Given the description of an element on the screen output the (x, y) to click on. 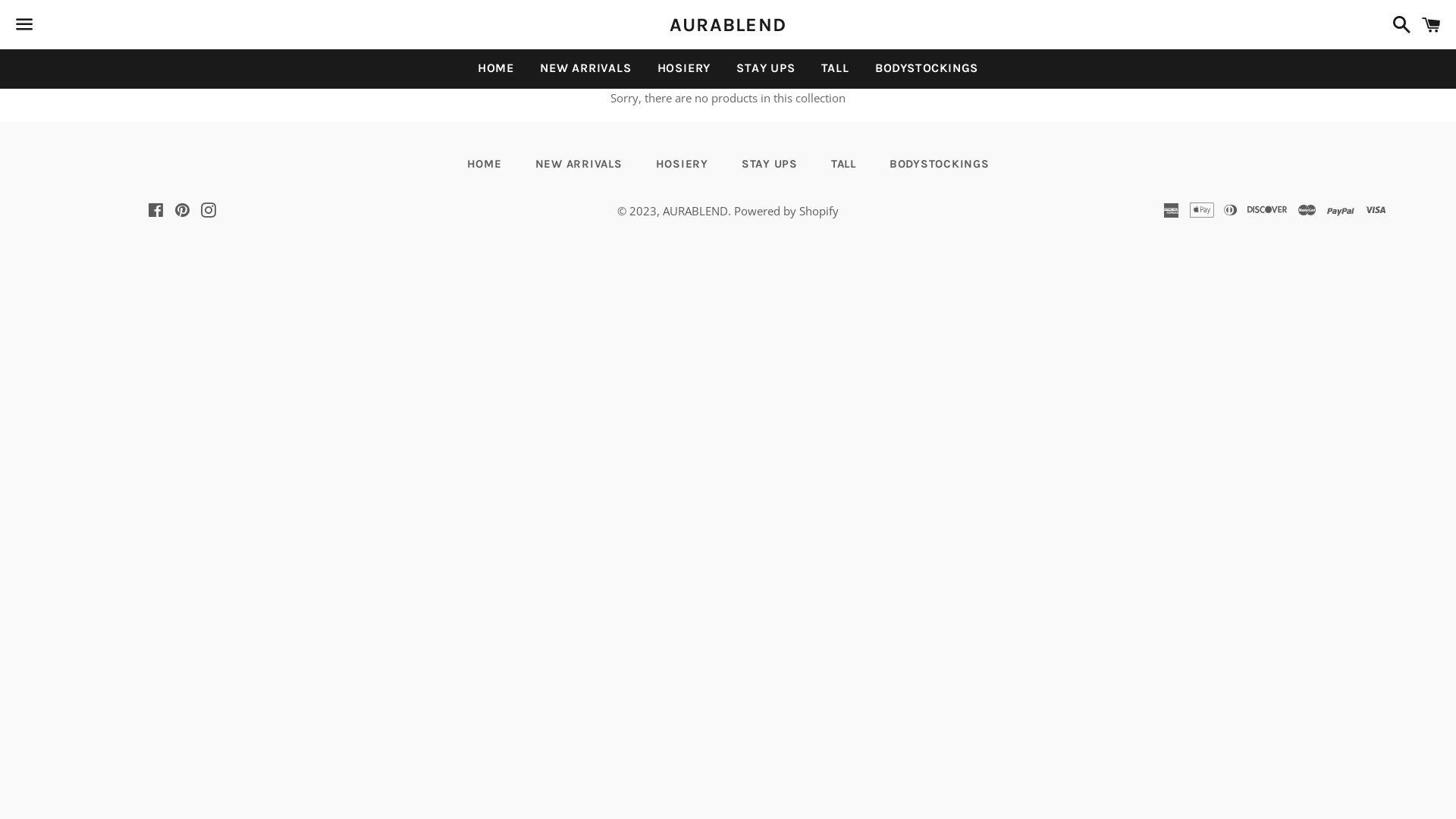
Instagram Element type: text (208, 211)
STAY UPS Element type: text (765, 68)
Menu Element type: text (24, 24)
NEW ARRIVALS Element type: text (585, 68)
HOSIERY Element type: text (684, 68)
NEW ARRIVALS Element type: text (578, 163)
BODYSTOCKINGS Element type: text (939, 163)
Pinterest Element type: text (182, 211)
TALL Element type: text (843, 163)
BODYSTOCKINGS Element type: text (926, 68)
AURABLEND Element type: text (727, 24)
AURABLEND Element type: text (695, 210)
TALL Element type: text (834, 68)
Facebook Element type: text (155, 211)
HOME Element type: text (484, 163)
Cart Element type: text (1431, 24)
STAY UPS Element type: text (769, 163)
Search Element type: text (1397, 24)
HOSIERY Element type: text (681, 163)
Powered by Shopify Element type: text (786, 210)
HOME Element type: text (495, 68)
